Given the description of an element on the screen output the (x, y) to click on. 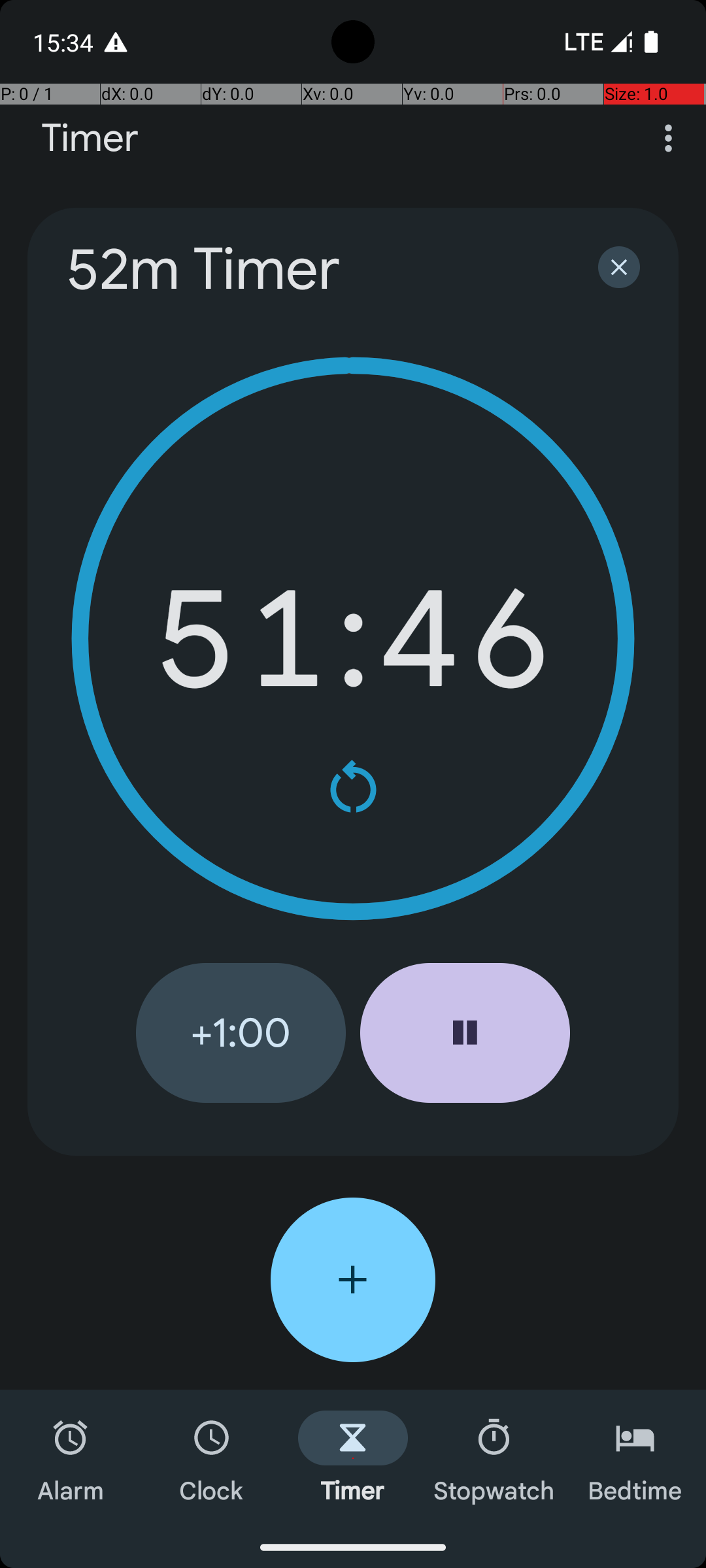
Add timer Element type: android.widget.Button (352, 1279)
52m Timer Element type: android.widget.TextView (315, 269)
51:46 Element type: android.widget.TextView (352, 638)
+1:00 Element type: android.widget.Button (240, 1032)
Pause Element type: android.widget.Button (465, 1032)
